Given the description of an element on the screen output the (x, y) to click on. 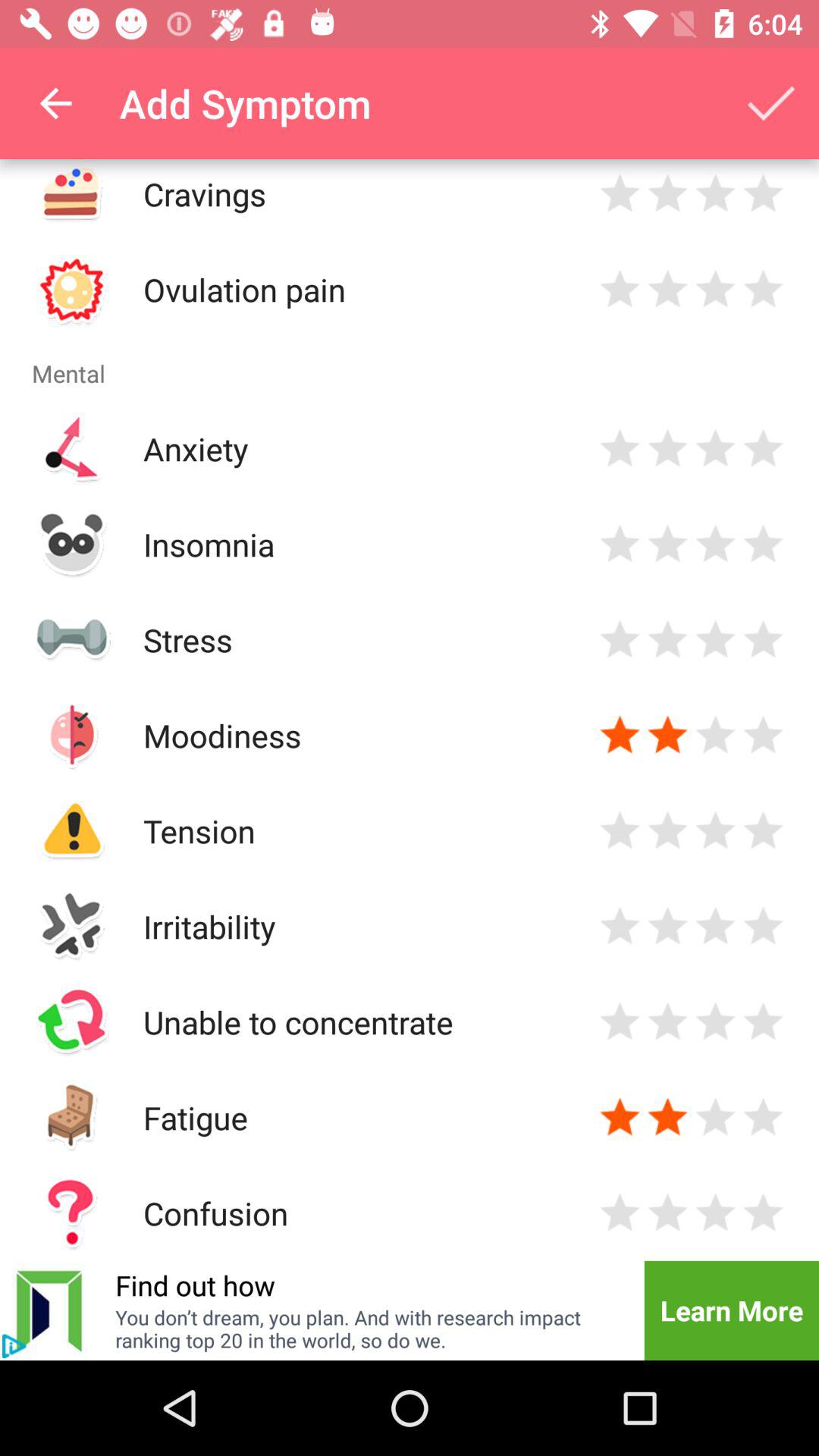
rate two stars (667, 289)
